Given the description of an element on the screen output the (x, y) to click on. 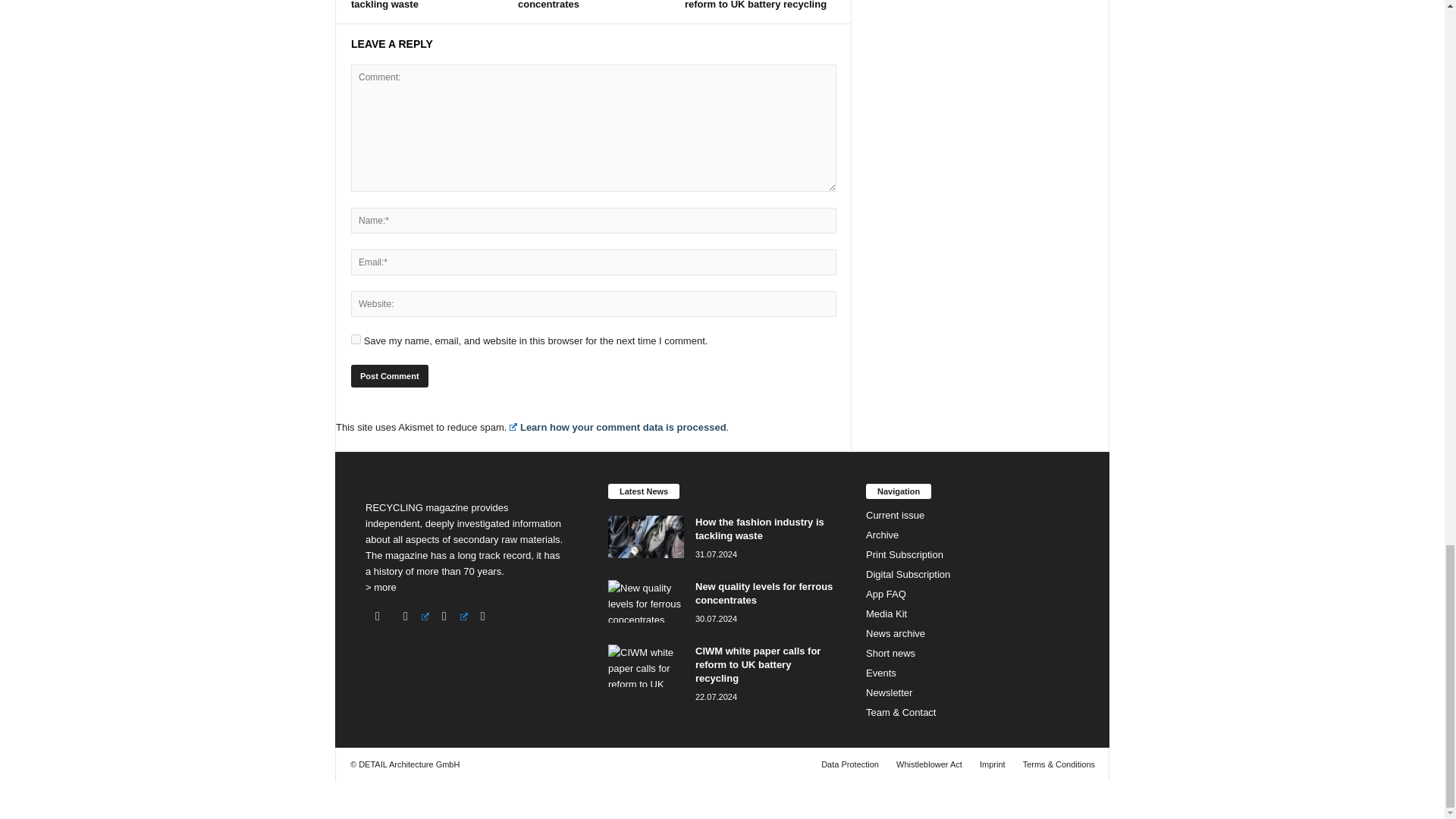
yes (355, 338)
Post Comment (389, 375)
